Given the description of an element on the screen output the (x, y) to click on. 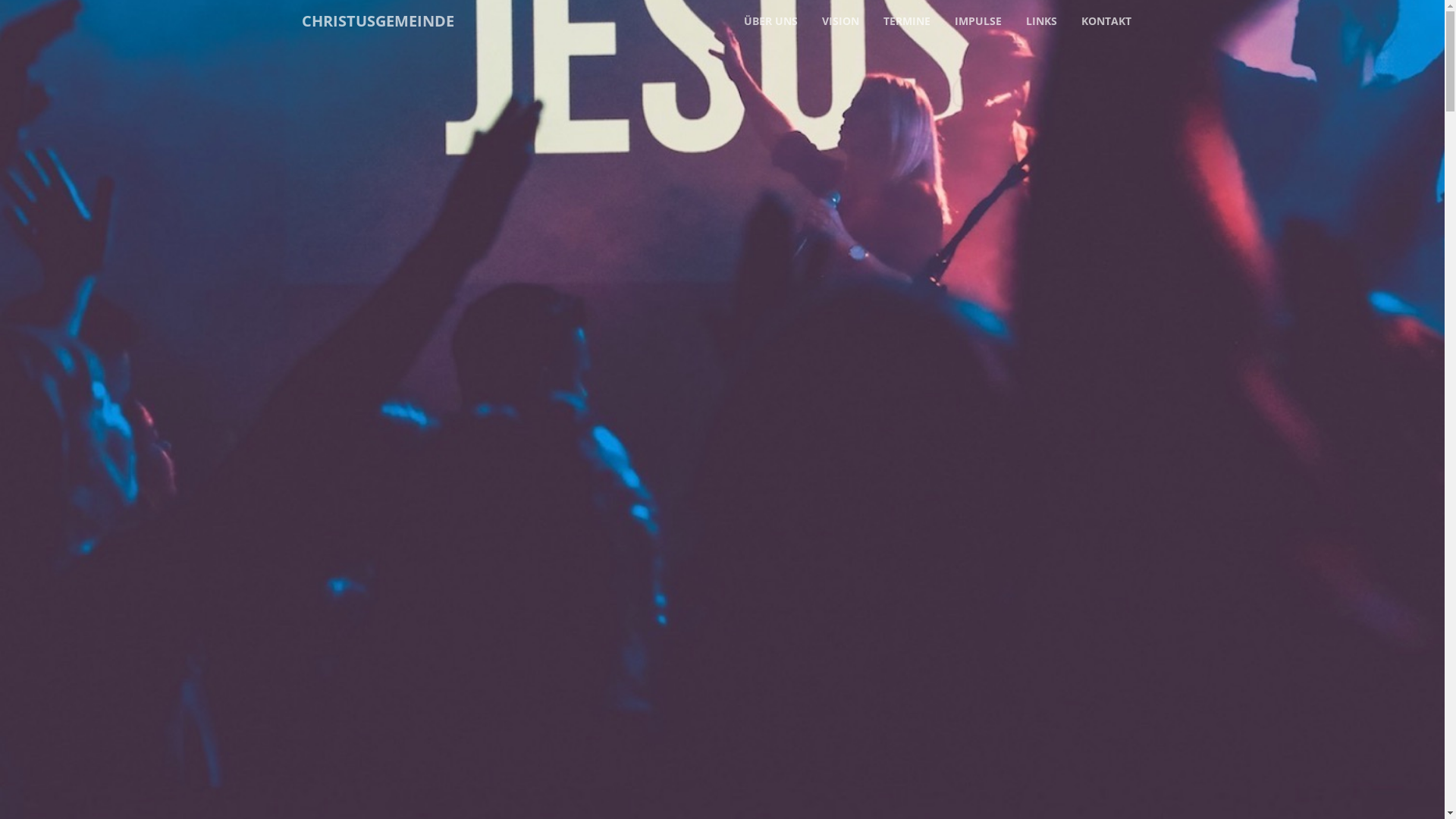
KONTAKT Element type: text (1106, 20)
CHRISTUSGEMEINDE Element type: text (377, 21)
VISION Element type: text (840, 20)
LINKS Element type: text (1040, 20)
IMPULSE Element type: text (977, 20)
TERMINE Element type: text (905, 20)
